Given the description of an element on the screen output the (x, y) to click on. 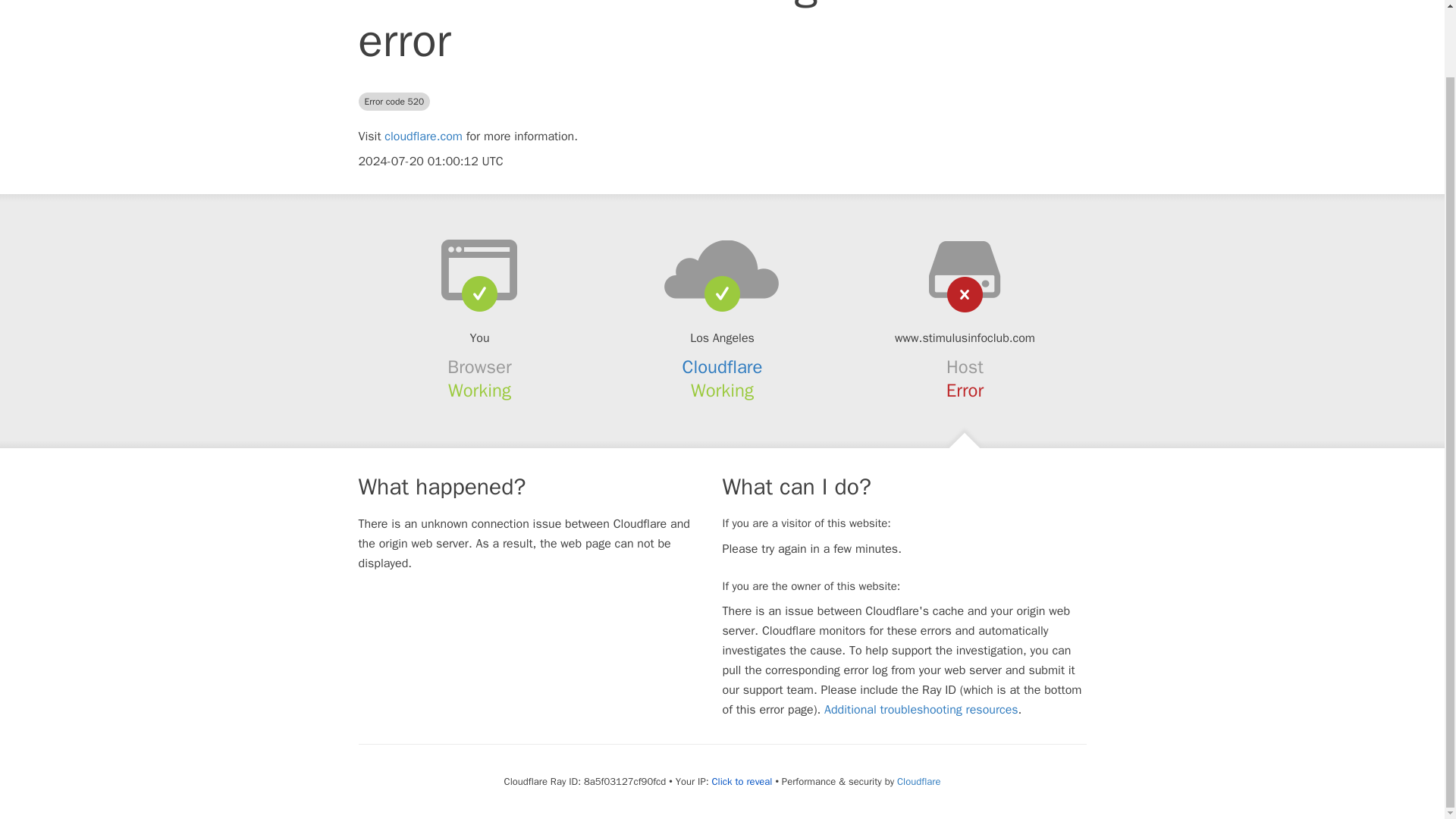
cloudflare.com (423, 136)
Click to reveal (742, 781)
Additional troubleshooting resources (920, 709)
Cloudflare (722, 366)
Cloudflare (918, 780)
